Given the description of an element on the screen output the (x, y) to click on. 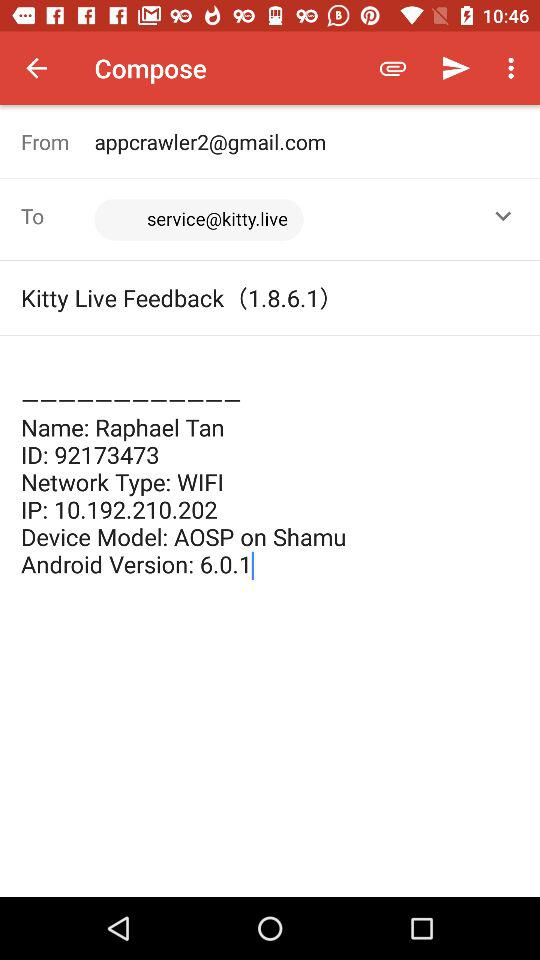
press item above the appcrawler2@gmail.com item (455, 67)
